Given the description of an element on the screen output the (x, y) to click on. 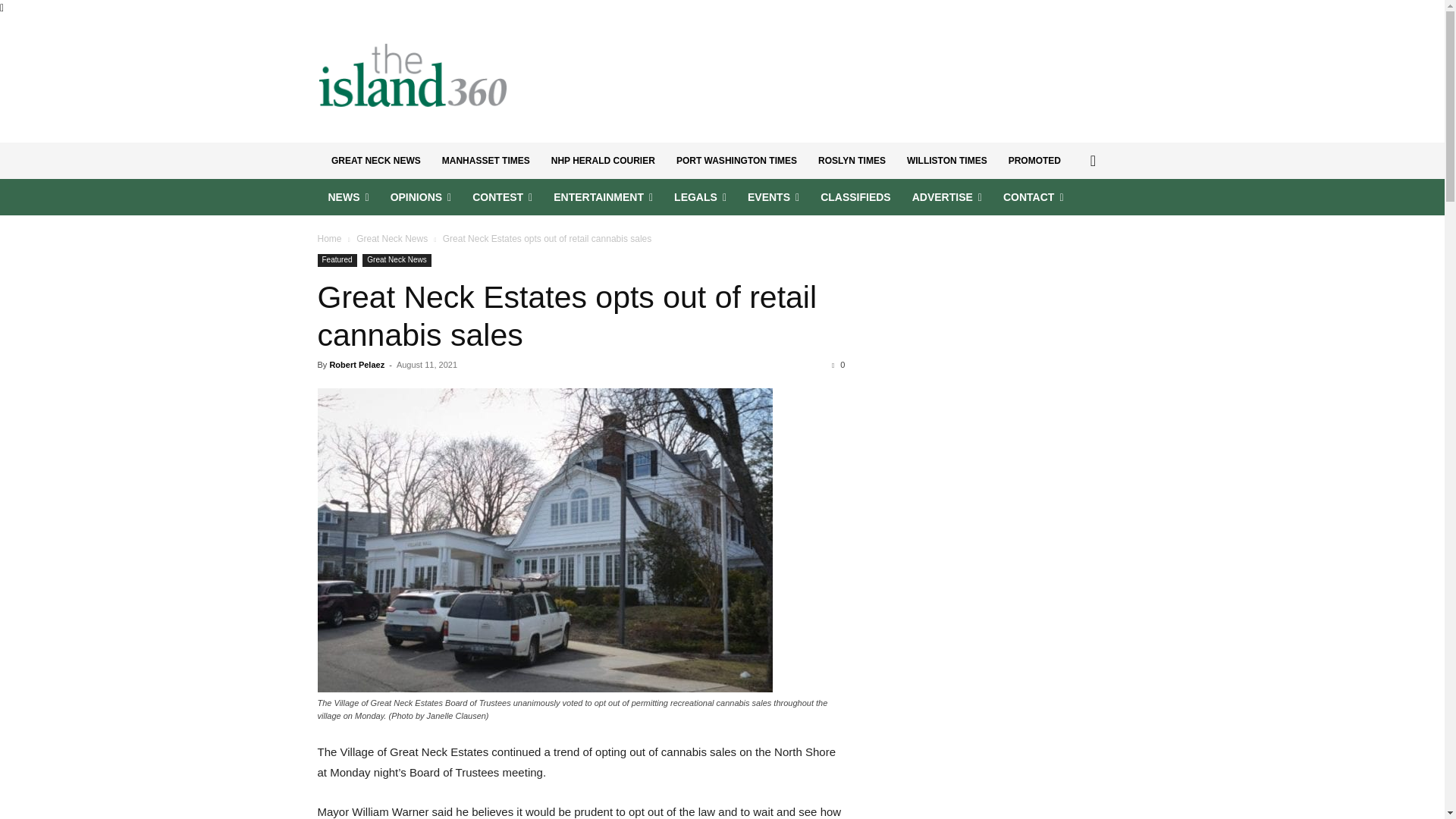
Posts by Robert Pelaez (356, 364)
Great Neck Estates opts out of retail cannabis sales (566, 316)
View all posts in Great Neck News (392, 238)
